Given the description of an element on the screen output the (x, y) to click on. 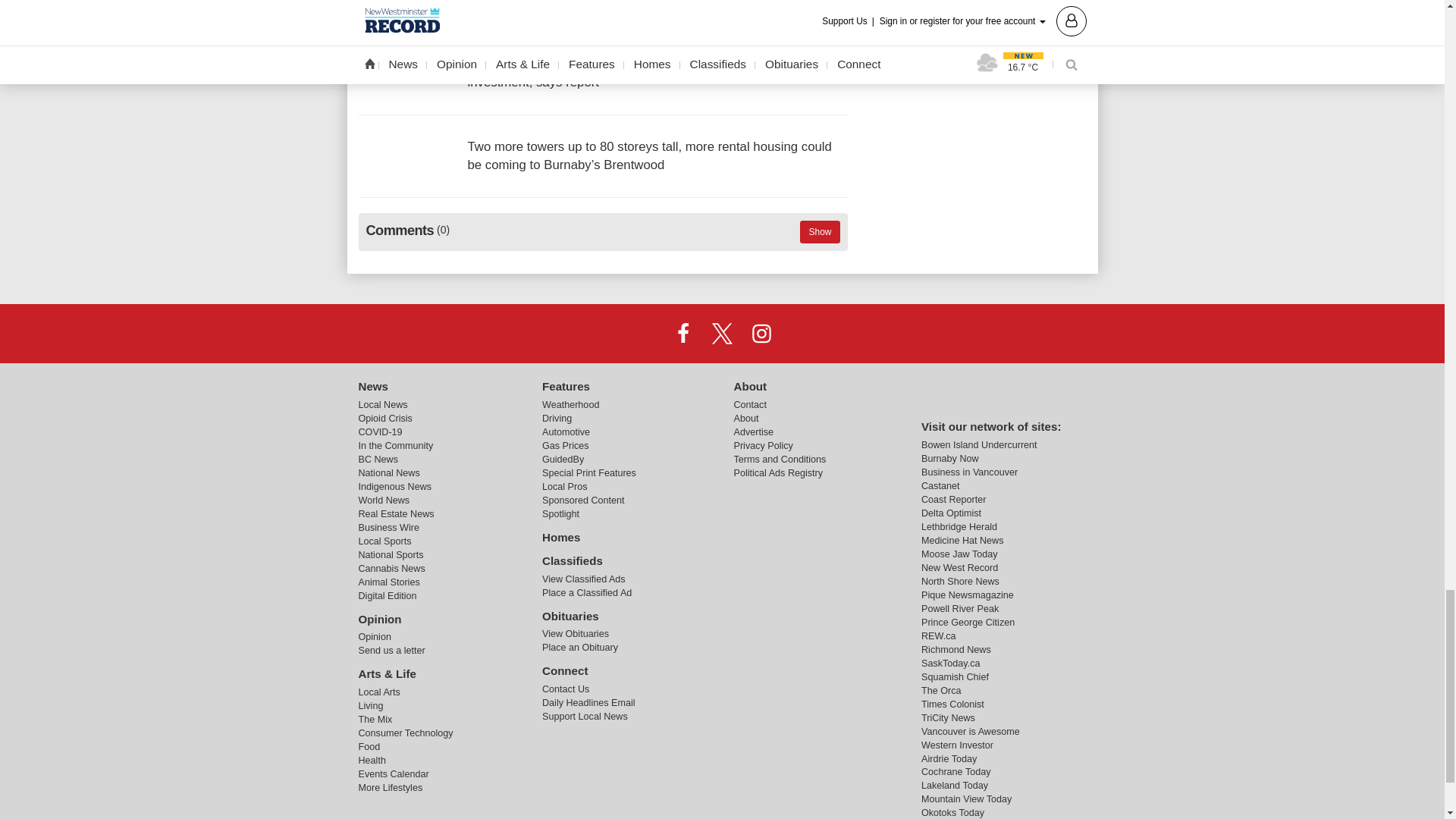
Facebook (683, 333)
X (721, 333)
Instagram (760, 333)
